Given the description of an element on the screen output the (x, y) to click on. 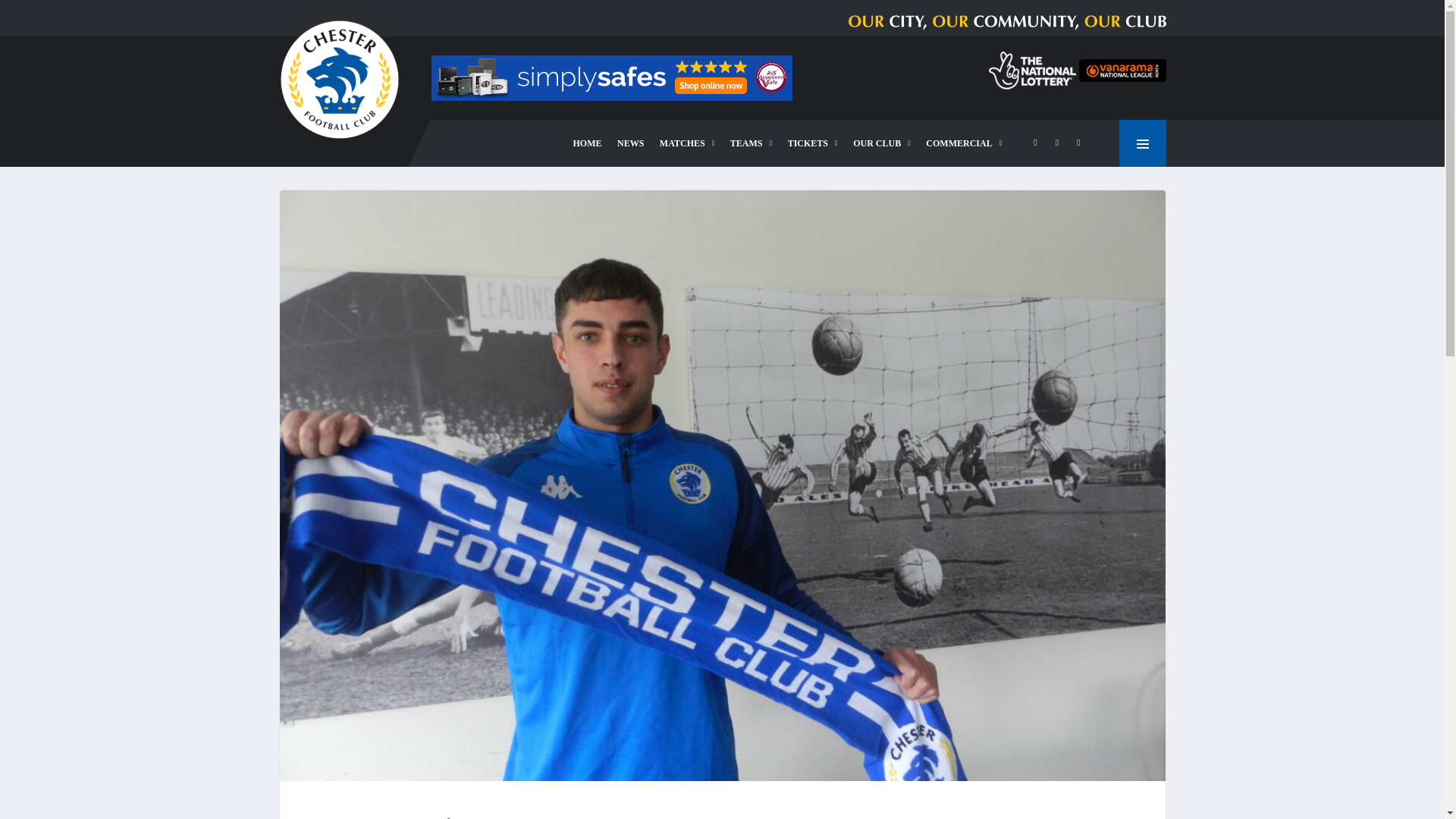
TICKETS (812, 143)
NEWS (630, 143)
HOME (587, 143)
MATCHES (686, 143)
TEAMS (750, 143)
OUR CLUB (882, 143)
